Given the description of an element on the screen output the (x, y) to click on. 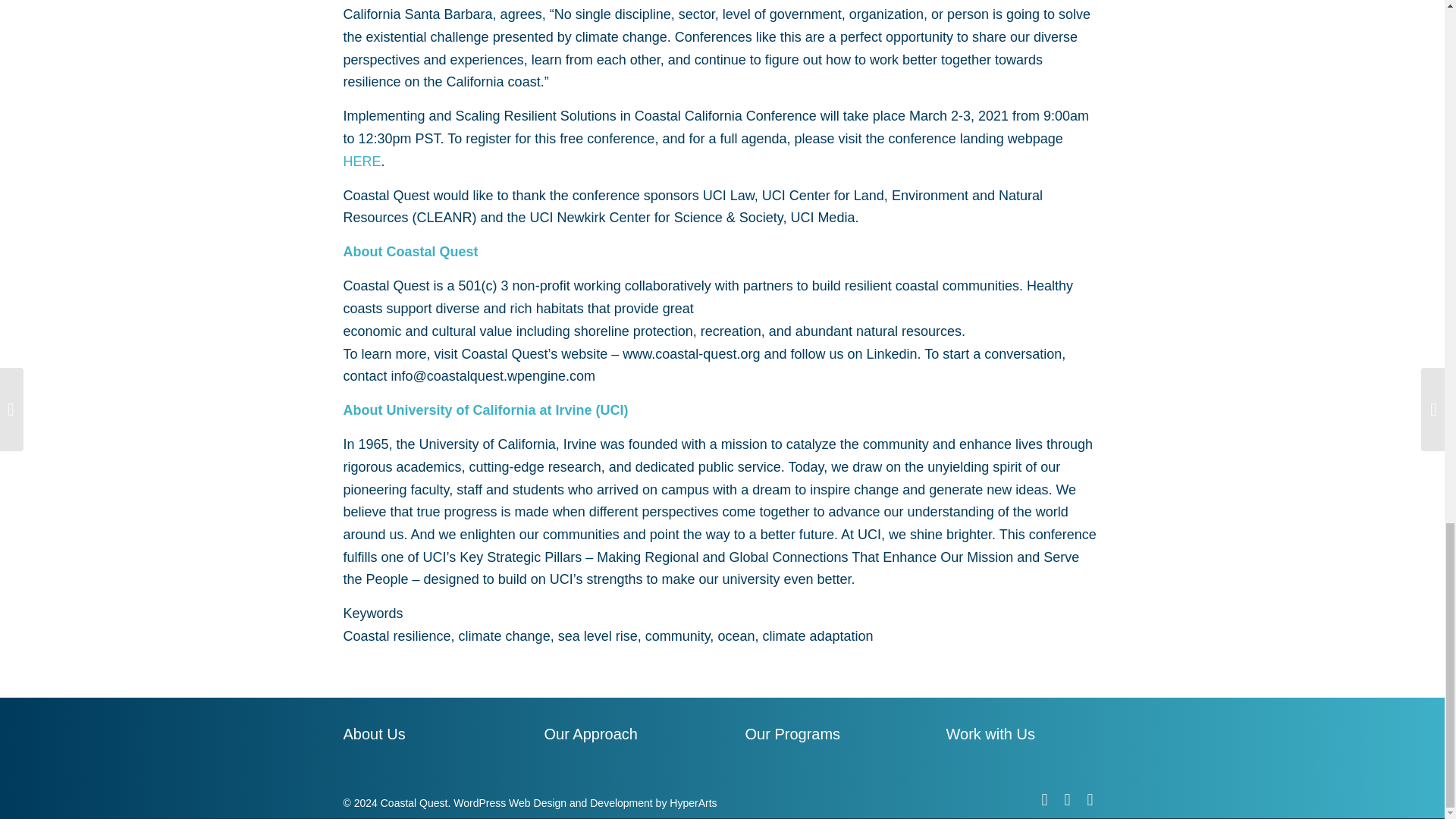
LinkedIn (1089, 799)
Our Programs (821, 735)
Instagram (1066, 799)
Our Approach (622, 735)
WordPress Web Design and Development by HyperArts (584, 802)
HERE (361, 160)
X (1043, 799)
About Us (419, 735)
Work with Us (1024, 735)
